Given the description of an element on the screen output the (x, y) to click on. 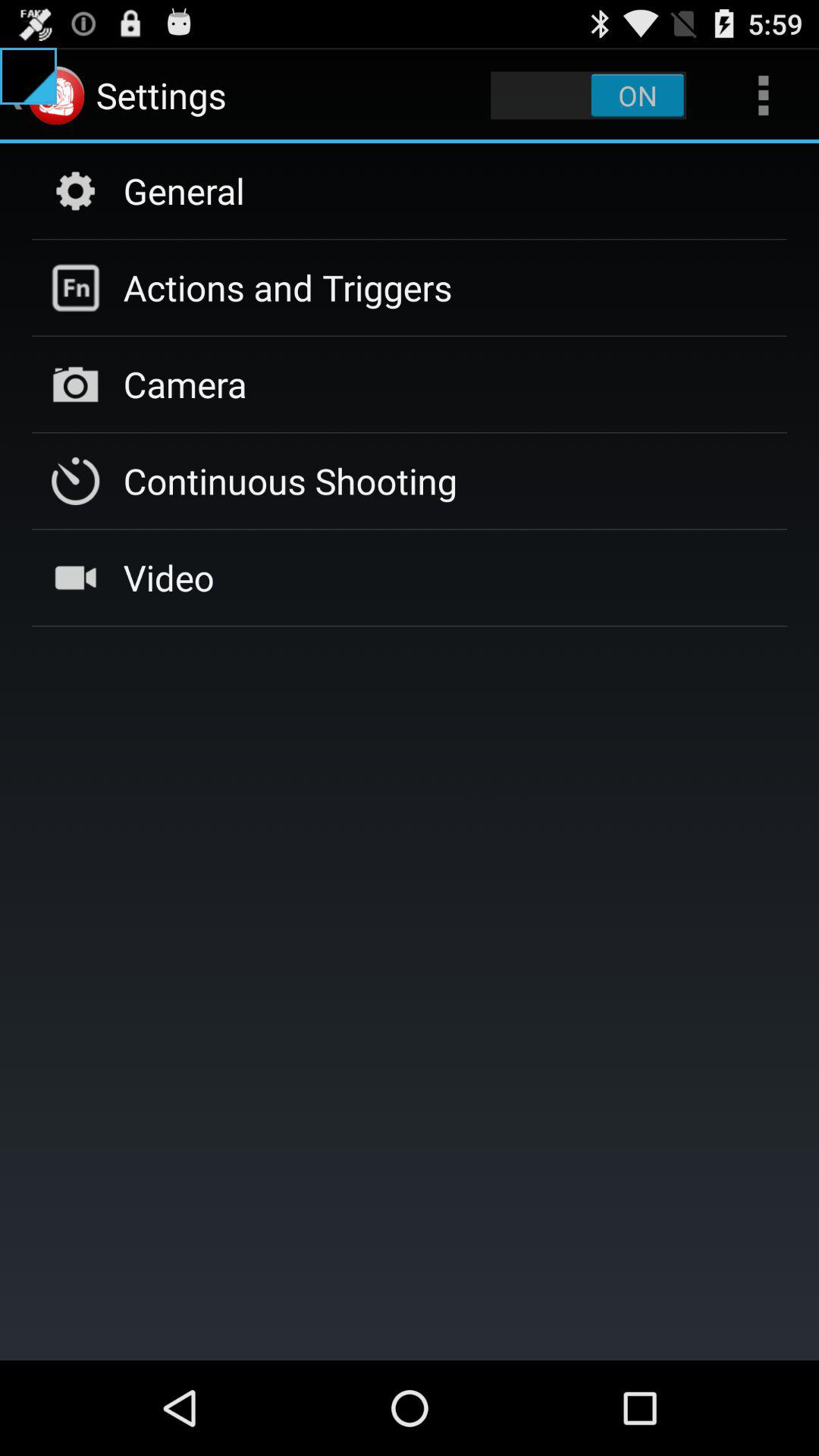
select continuous shooting icon (290, 480)
